Given the description of an element on the screen output the (x, y) to click on. 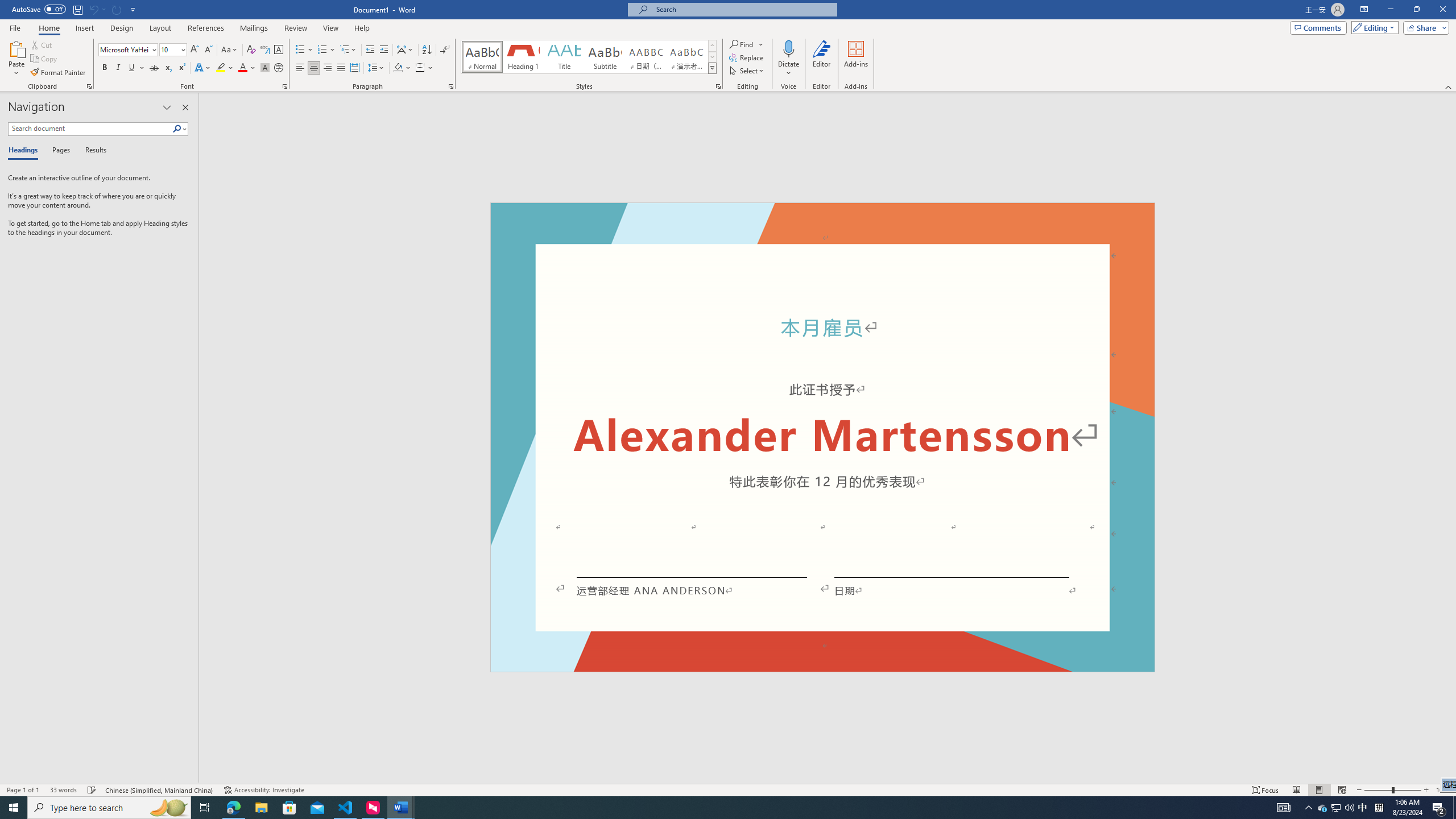
Microsoft search (742, 9)
AutomationID: QuickStylesGallery (588, 56)
Superscript (180, 67)
Page Number Page 1 of 1 (22, 790)
Justify (340, 67)
Subtitle (605, 56)
Grow Font (193, 49)
Bold (104, 67)
Character Border (278, 49)
Heading 1 (522, 56)
Footer -Section 1- (822, 666)
